Given the description of an element on the screen output the (x, y) to click on. 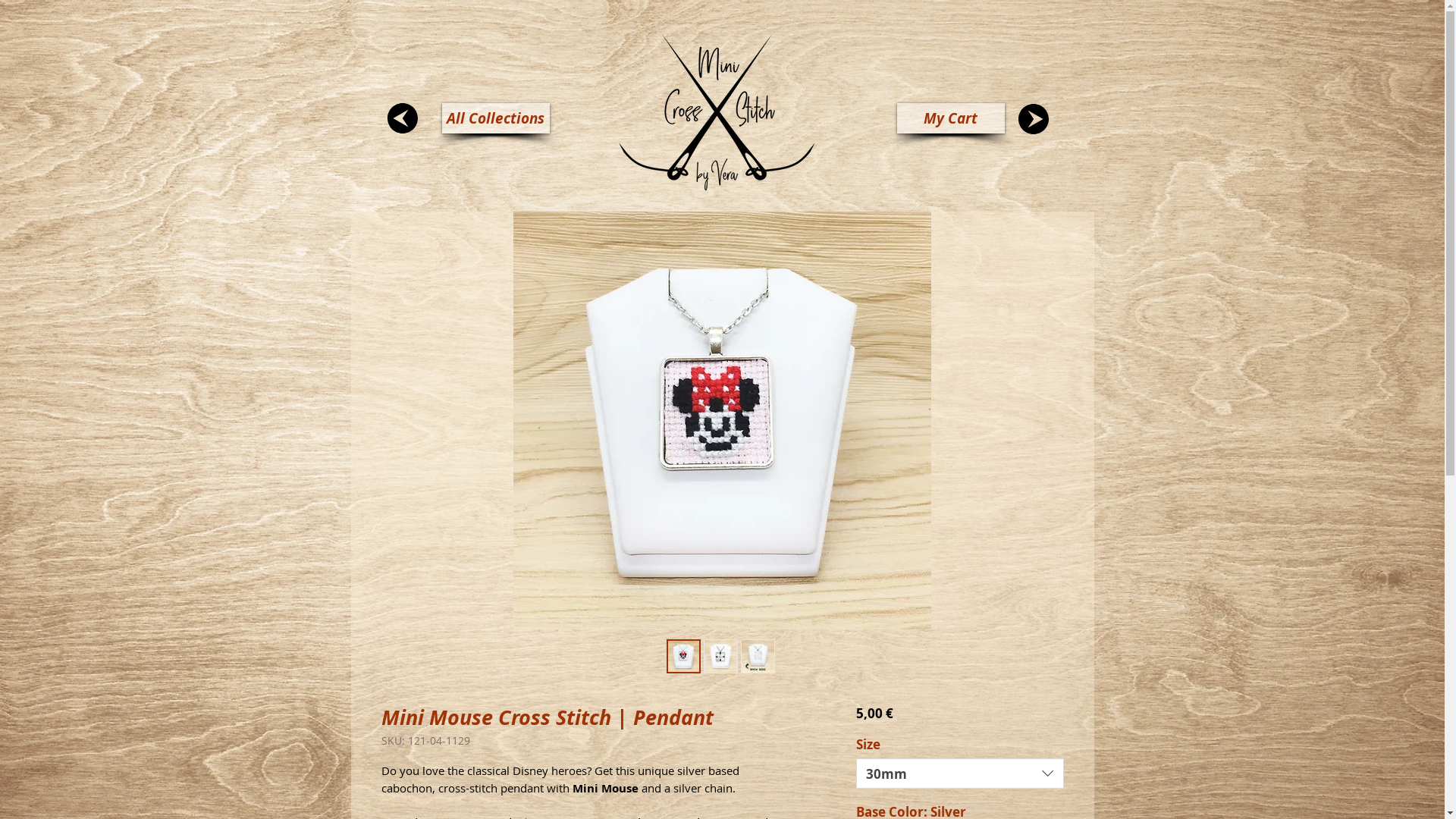
My Cart Element type: text (950, 118)
All Collections Element type: text (495, 118)
30mm Element type: text (959, 773)
